Given the description of an element on the screen output the (x, y) to click on. 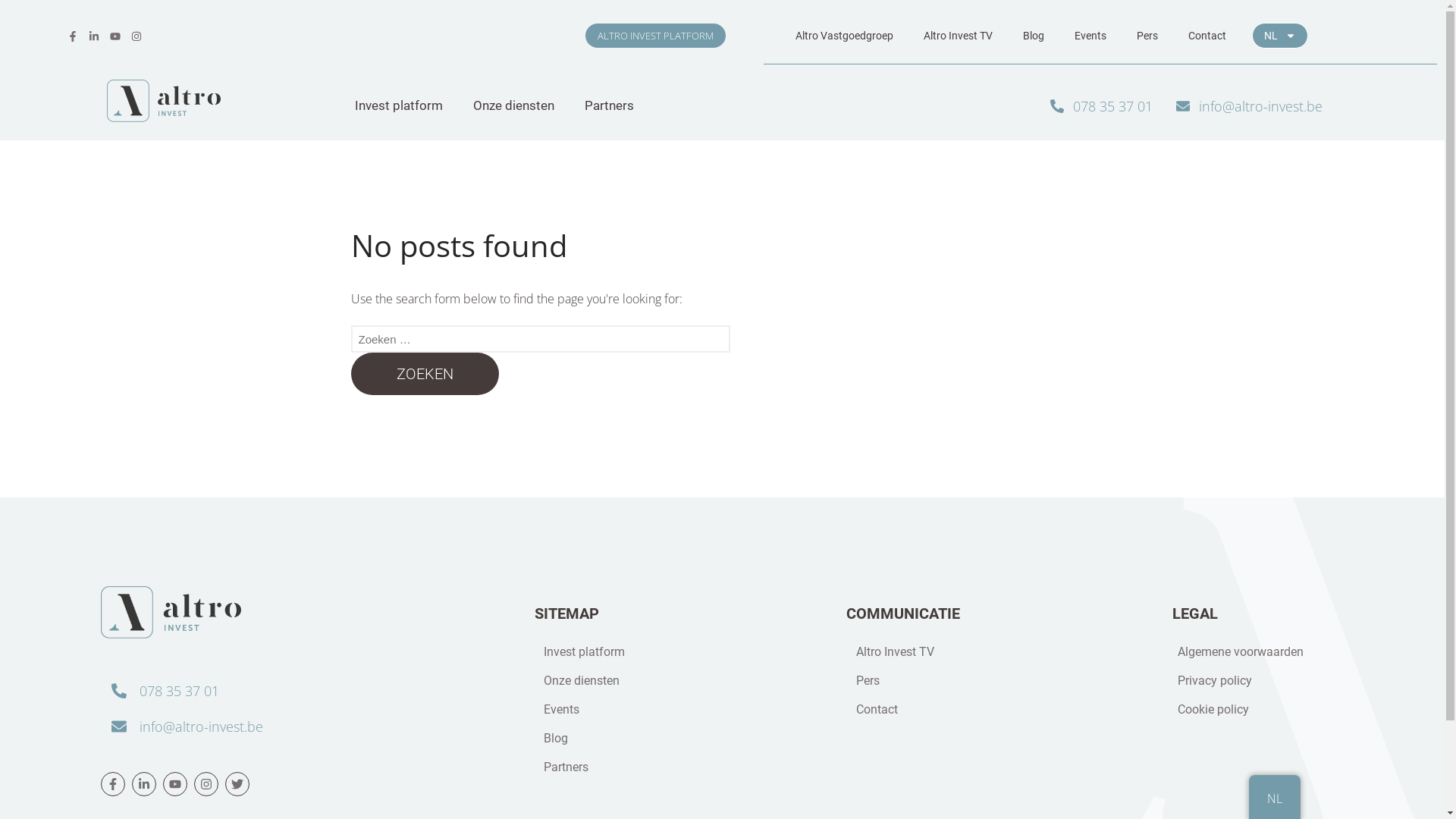
Algemene voorwaarden Element type: text (1260, 651)
NL Element type: text (1280, 35)
Partners Element type: text (609, 105)
NL Element type: text (1273, 798)
info@altro-invest.be Element type: text (285, 726)
Altro Vastgoedgroep Element type: text (843, 35)
Invest platform Element type: text (687, 651)
ALTRO INVEST PLATFORM Element type: text (655, 35)
Altro Invest TV Element type: text (1006, 651)
Blog Element type: text (687, 738)
Zoeken Element type: text (424, 373)
Cookie policy Element type: text (1260, 709)
Onze diensten Element type: text (513, 105)
Events Element type: text (687, 709)
Invest platform Element type: text (398, 105)
Contact Element type: text (1006, 709)
Privacy policy Element type: text (1260, 680)
Onze diensten Element type: text (687, 680)
Partners Element type: text (687, 767)
Pers Element type: text (1147, 35)
info@altro-invest.be Element type: text (1247, 105)
Contact Element type: text (1206, 35)
Events Element type: text (1090, 35)
Blog Element type: text (1033, 35)
Altro Invest TV Element type: text (958, 35)
Pers Element type: text (1006, 680)
